Given the description of an element on the screen output the (x, y) to click on. 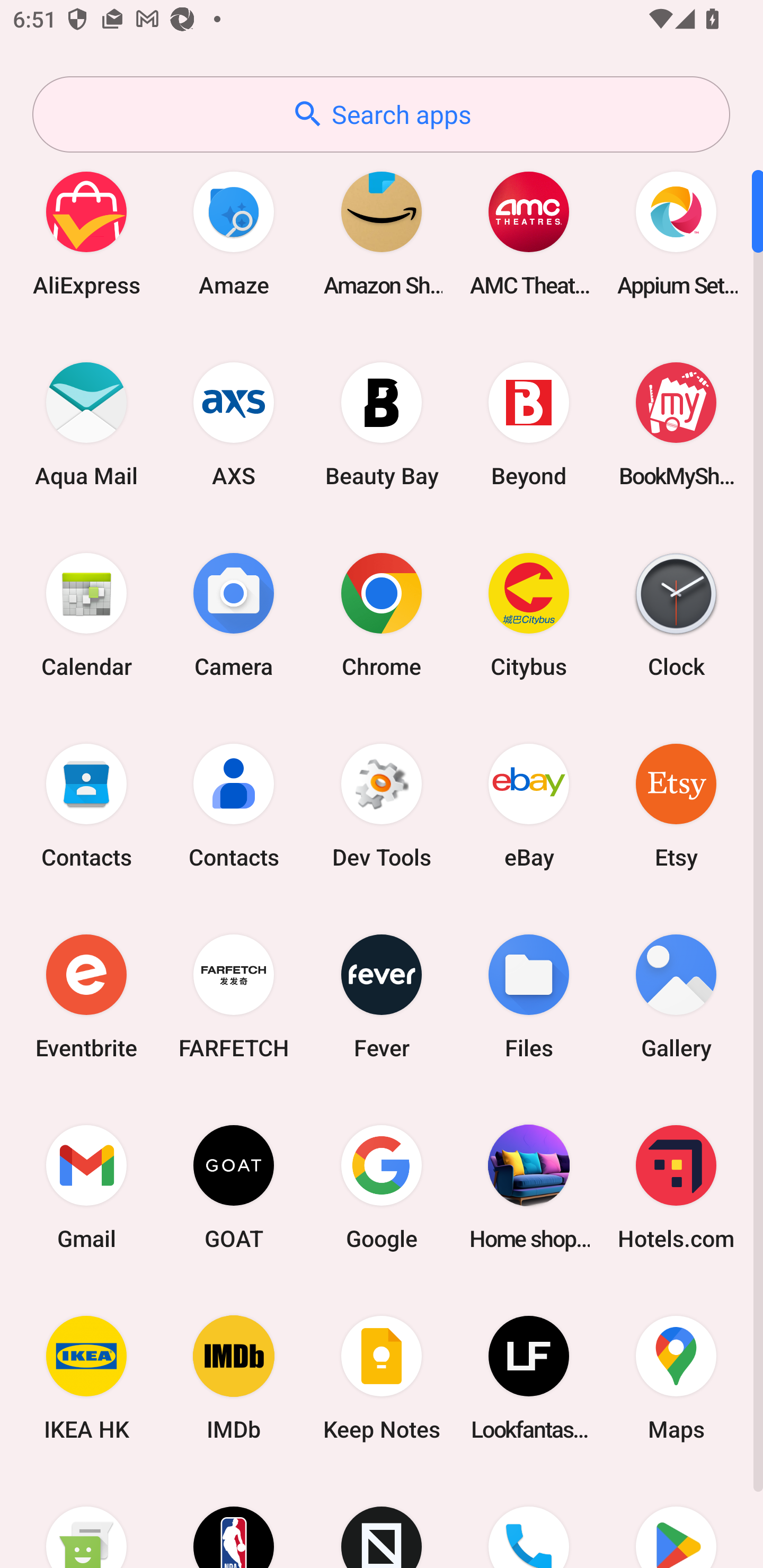
  Search apps (381, 114)
AliExpress (86, 233)
Amaze (233, 233)
Amazon Shopping (381, 233)
AMC Theatres (528, 233)
Appium Settings (676, 233)
Aqua Mail (86, 424)
AXS (233, 424)
Beauty Bay (381, 424)
Beyond (528, 424)
BookMyShow (676, 424)
Calendar (86, 614)
Camera (233, 614)
Chrome (381, 614)
Citybus (528, 614)
Clock (676, 614)
Contacts (86, 805)
Contacts (233, 805)
Dev Tools (381, 805)
eBay (528, 805)
Etsy (676, 805)
Eventbrite (86, 996)
FARFETCH (233, 996)
Fever (381, 996)
Files (528, 996)
Gallery (676, 996)
Gmail (86, 1186)
GOAT (233, 1186)
Google (381, 1186)
Home shopping (528, 1186)
Hotels.com (676, 1186)
IKEA HK (86, 1377)
IMDb (233, 1377)
Keep Notes (381, 1377)
Lookfantastic (528, 1377)
Maps (676, 1377)
Messaging (86, 1520)
NBA (233, 1520)
Novelship (381, 1520)
Phone (528, 1520)
Play Store (676, 1520)
